Given the description of an element on the screen output the (x, y) to click on. 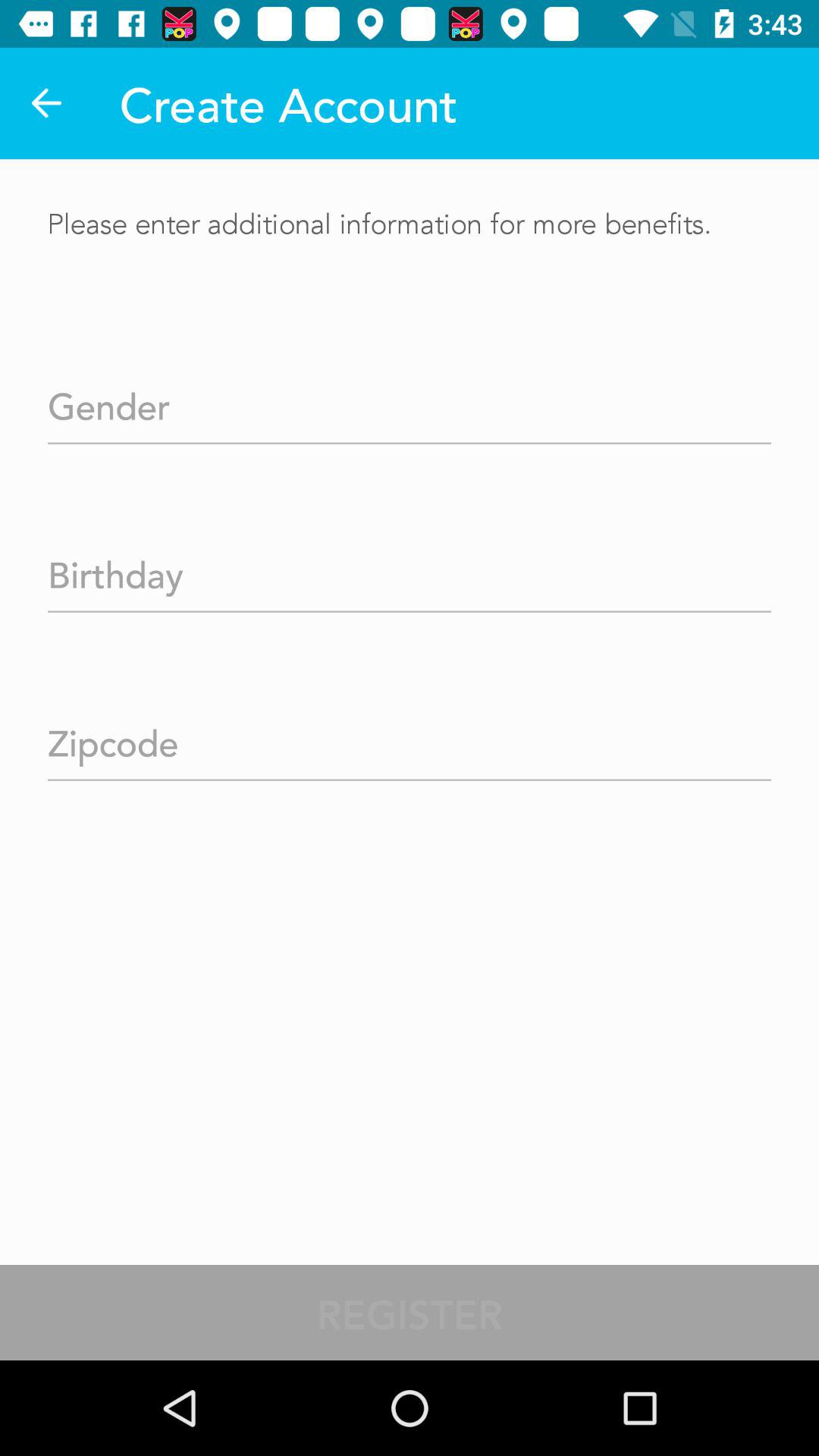
sapce to enter date (409, 569)
